Given the description of an element on the screen output the (x, y) to click on. 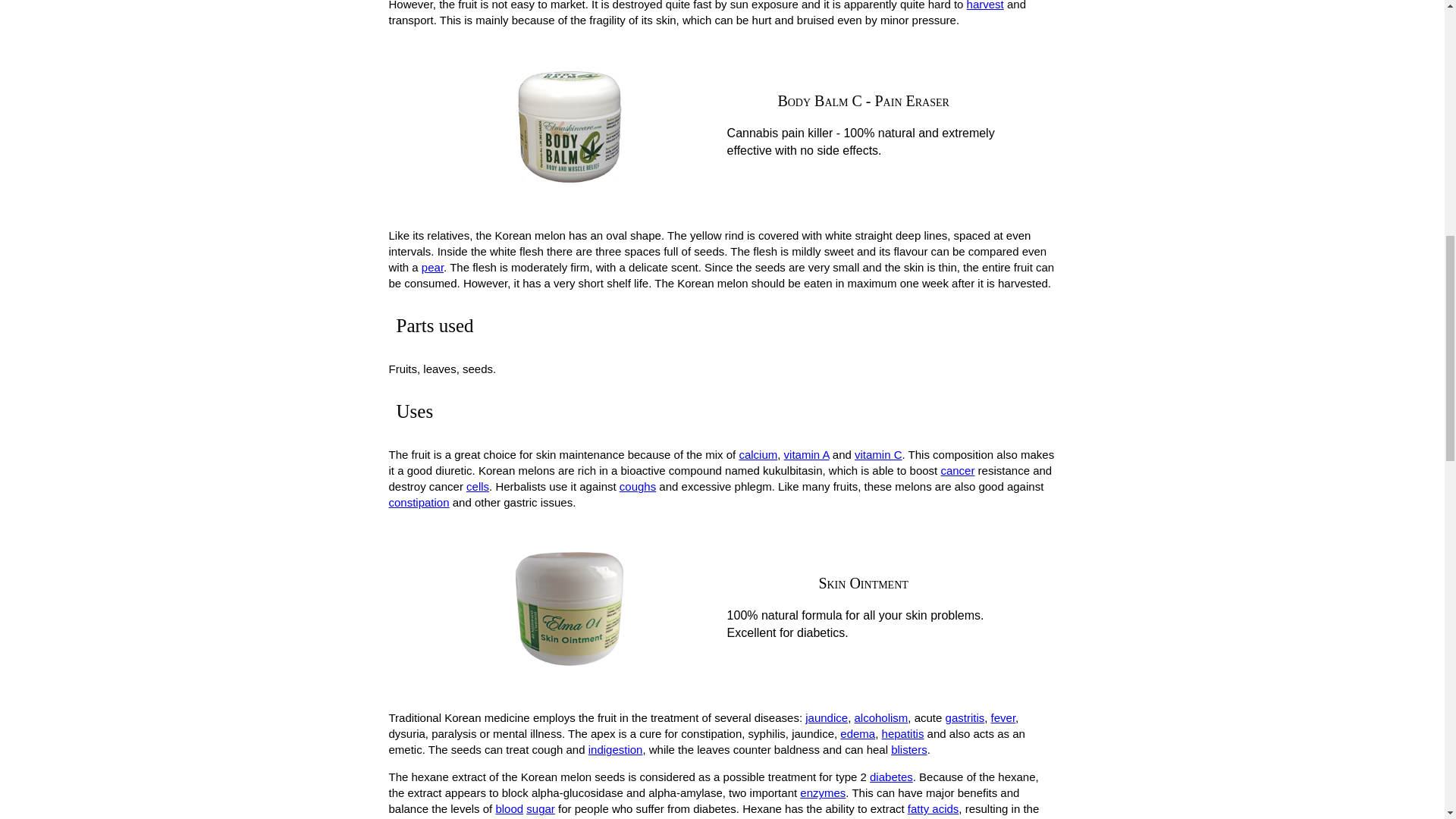
pear (433, 267)
harvest (985, 5)
vitamin C (878, 454)
coughs (638, 486)
jaundice (826, 717)
cells (477, 486)
vitamin A (806, 454)
calcium (757, 454)
alcoholism (880, 717)
cancer (957, 470)
